Given the description of an element on the screen output the (x, y) to click on. 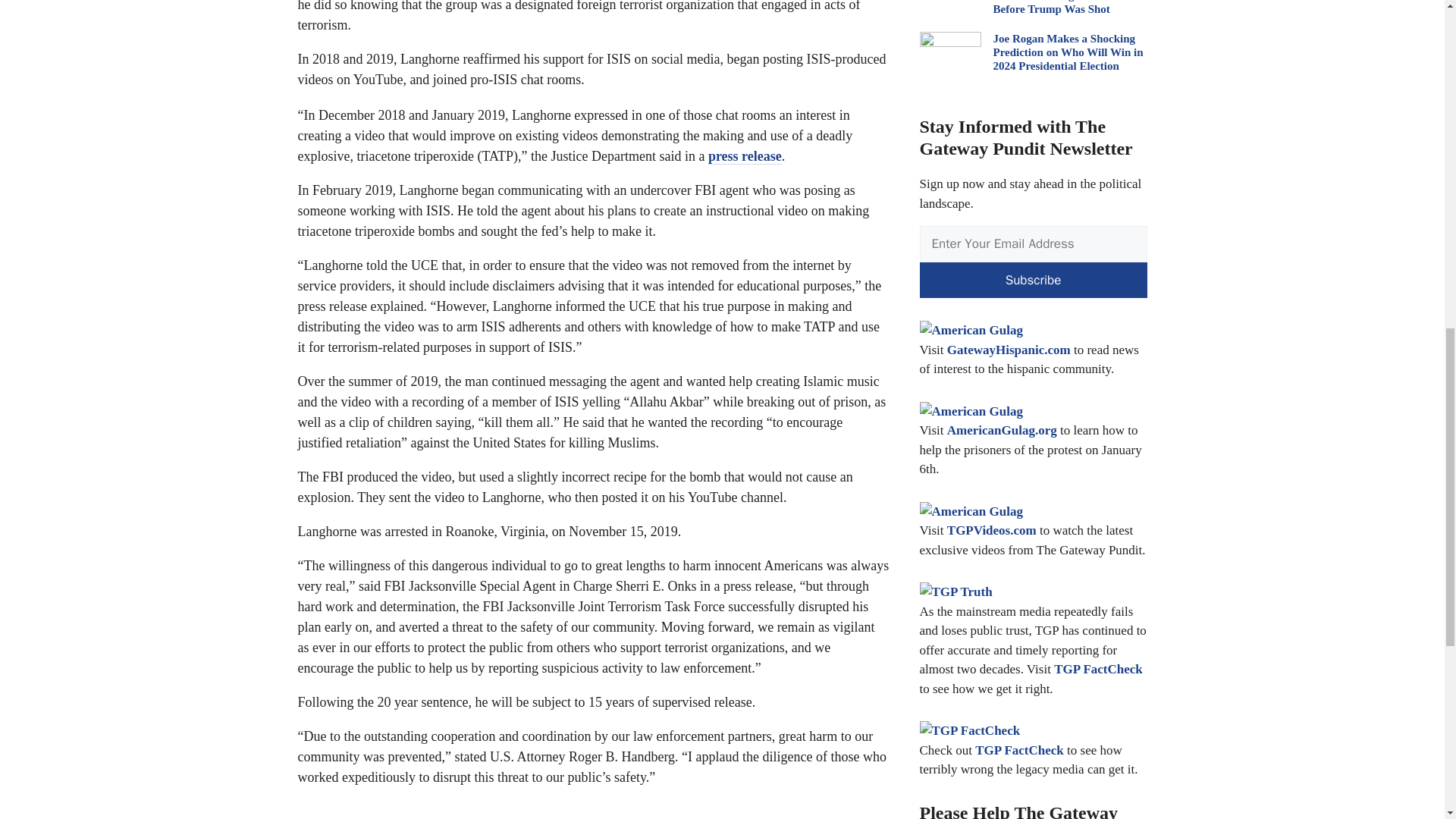
Subscribe (1032, 280)
